Given the description of an element on the screen output the (x, y) to click on. 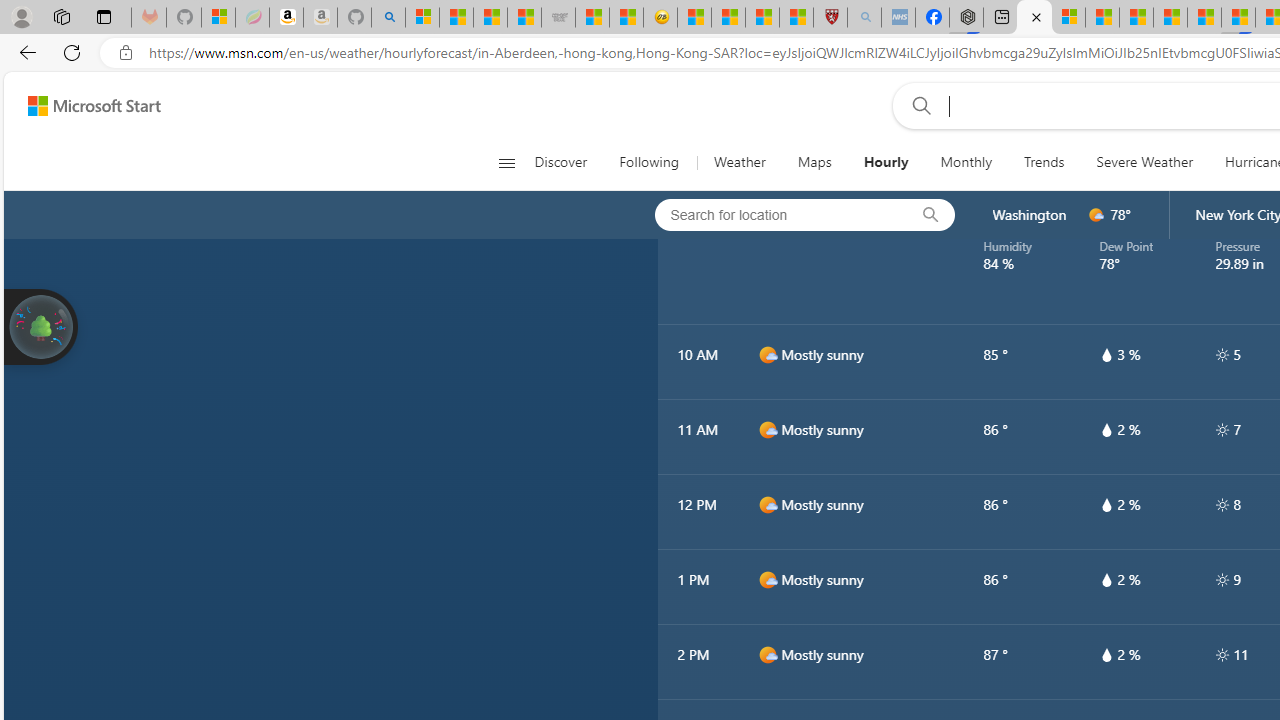
Monthly (966, 162)
